Given the description of an element on the screen output the (x, y) to click on. 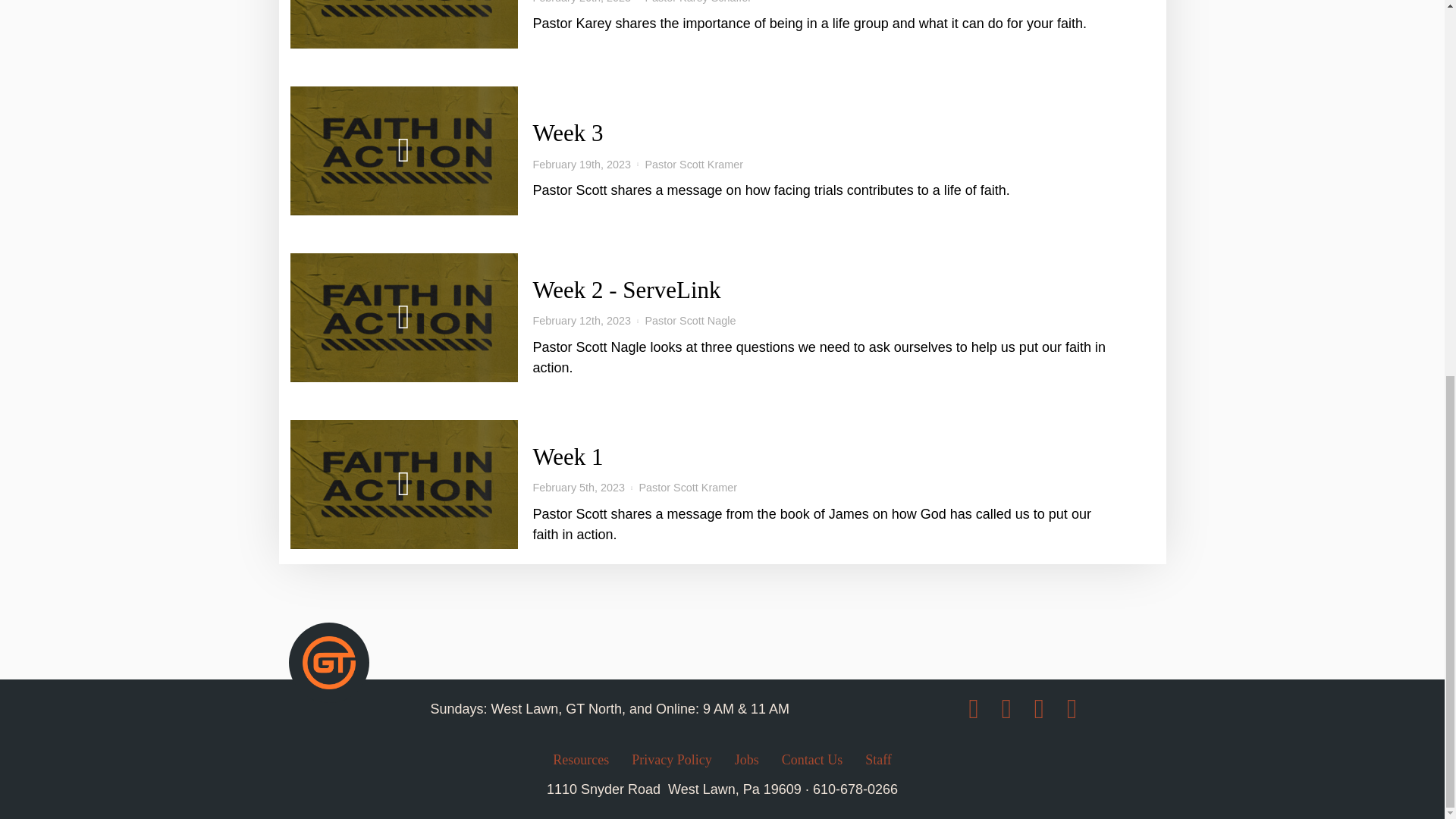
Resources (721, 760)
Staff (580, 760)
610-678-0266 (877, 760)
Contact Us (855, 789)
Jobs (812, 760)
Privacy Policy (746, 760)
